Given the description of an element on the screen output the (x, y) to click on. 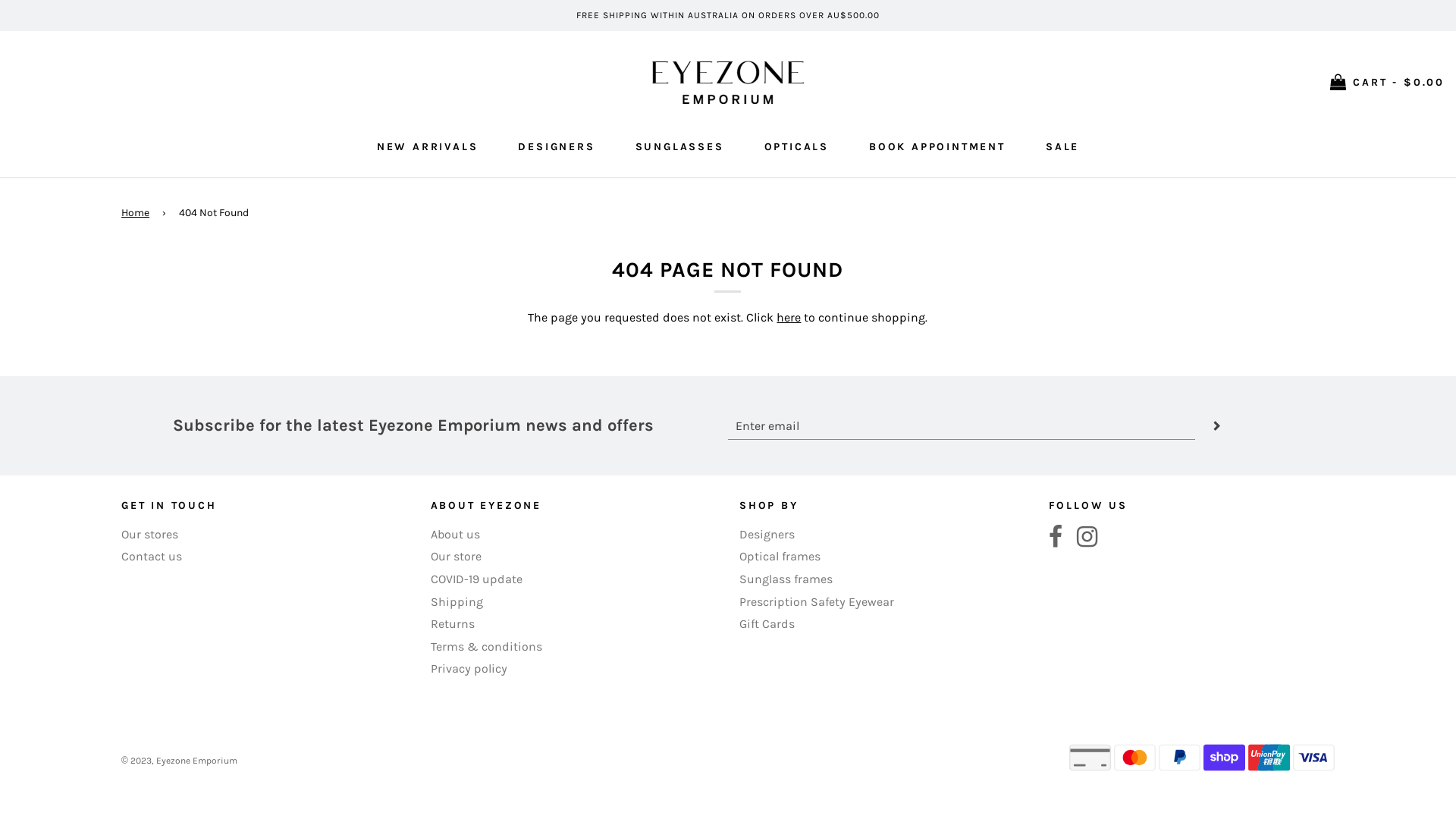
CART - $0.00 Element type: text (1387, 82)
OPTICALS Element type: text (796, 146)
Sunglass frames Element type: text (785, 578)
Terms & conditions Element type: text (486, 646)
Home Element type: text (137, 212)
COVID-19 update Element type: text (476, 578)
Gift Cards Element type: text (766, 623)
Contact us Element type: text (151, 556)
Privacy policy Element type: text (468, 668)
Returns Element type: text (452, 623)
here Element type: text (788, 317)
SUNGLASSES Element type: text (679, 146)
NEW ARRIVALS Element type: text (427, 146)
Our store Element type: text (455, 556)
About us Element type: text (455, 534)
Our stores Element type: text (149, 534)
Shipping Element type: text (456, 601)
SALE Element type: text (1062, 146)
Prescription Safety Eyewear Element type: text (816, 601)
DESIGNERS Element type: text (555, 146)
BOOK APPOINTMENT Element type: text (937, 146)
Optical frames Element type: text (779, 556)
Designers Element type: text (766, 534)
